Given the description of an element on the screen output the (x, y) to click on. 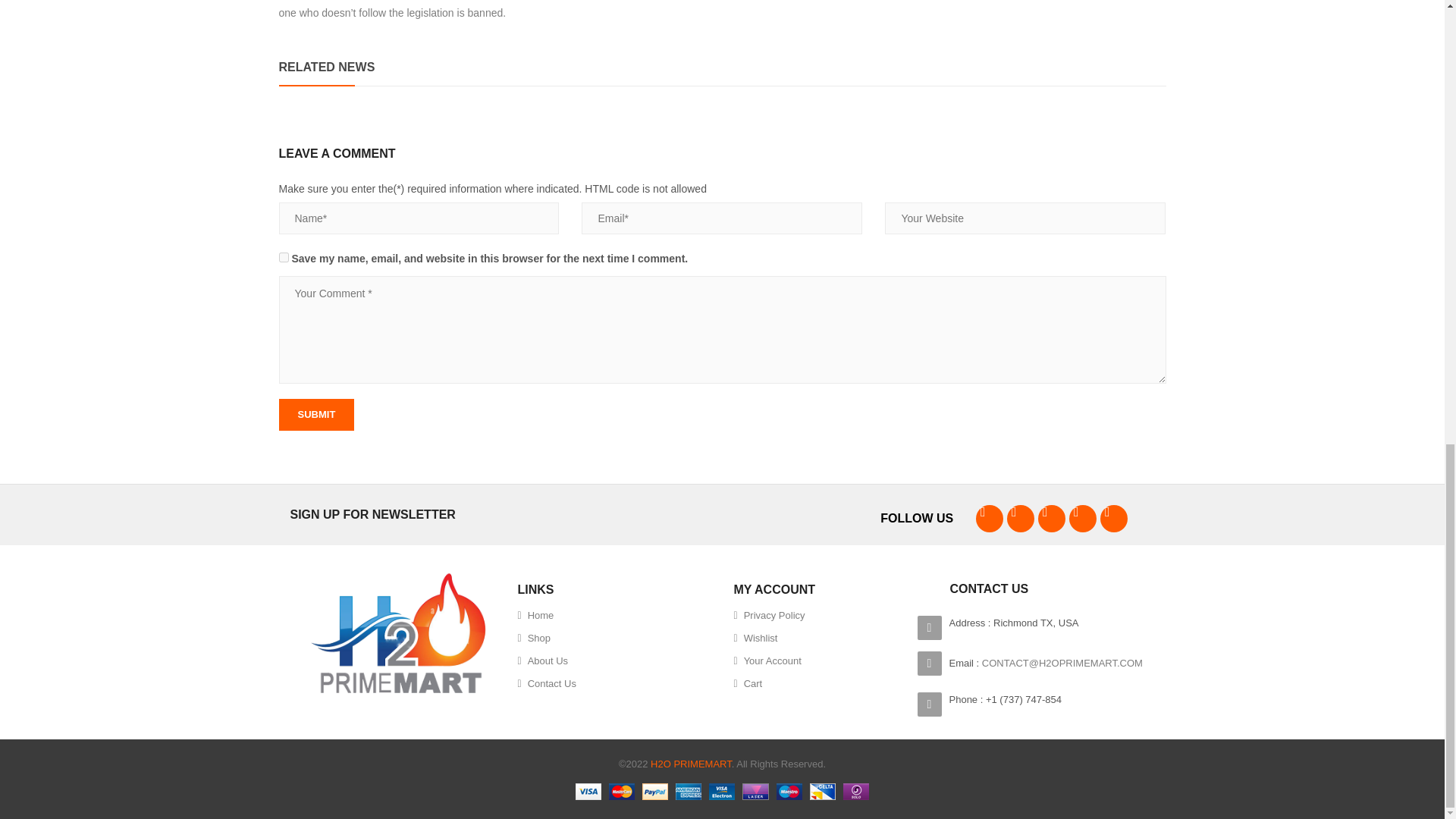
yes (283, 257)
Home (534, 615)
Submit (317, 414)
Submit (317, 414)
Shop (533, 638)
About Us (541, 661)
